Given the description of an element on the screen output the (x, y) to click on. 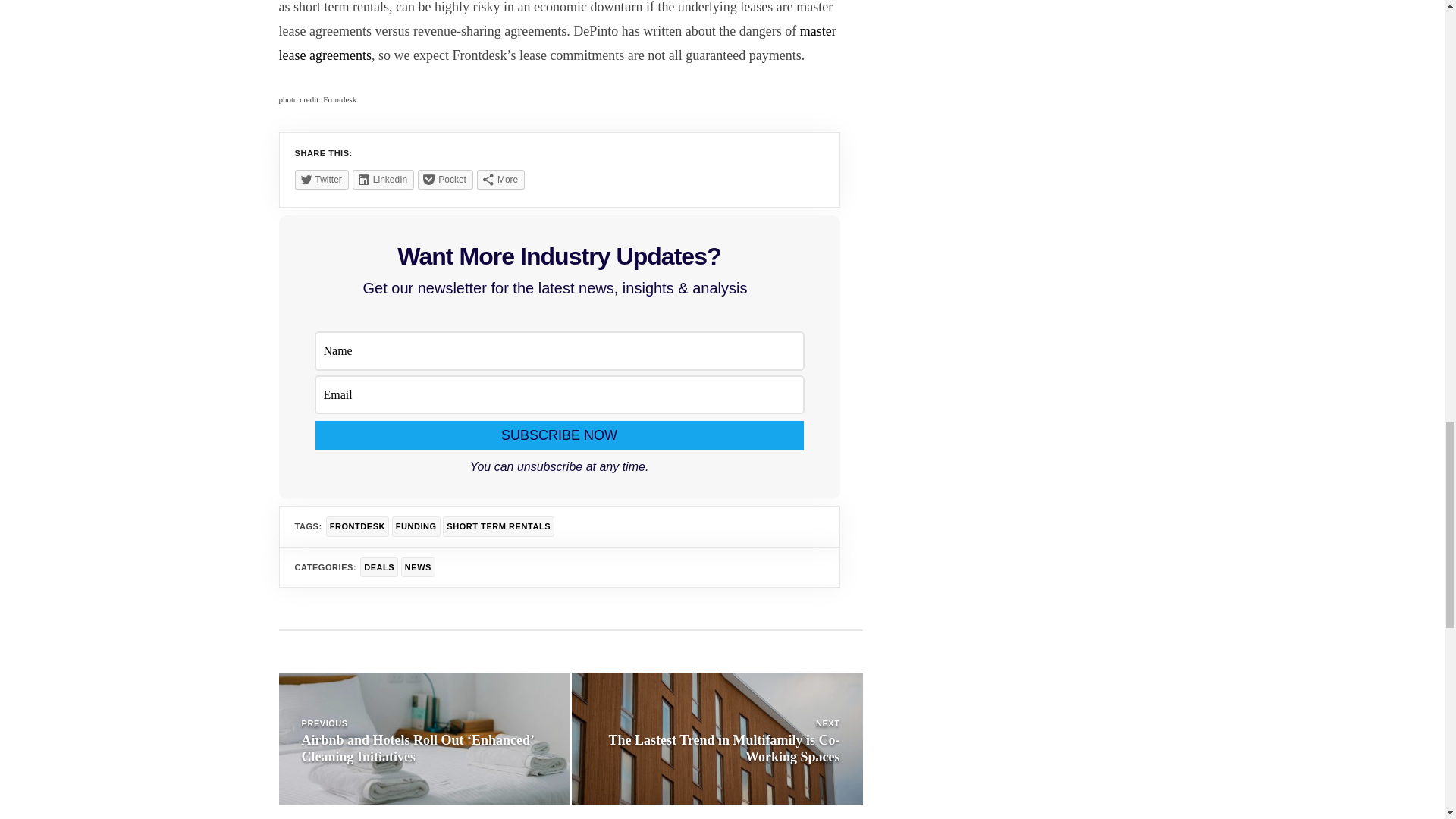
More (500, 179)
Click to share on Twitter (320, 179)
Twitter (320, 179)
Subscribe Now (559, 435)
master lease agreements (557, 43)
Click to share on LinkedIn (382, 179)
Click to share on Pocket (445, 179)
LinkedIn (382, 179)
Pocket (445, 179)
